Given the description of an element on the screen output the (x, y) to click on. 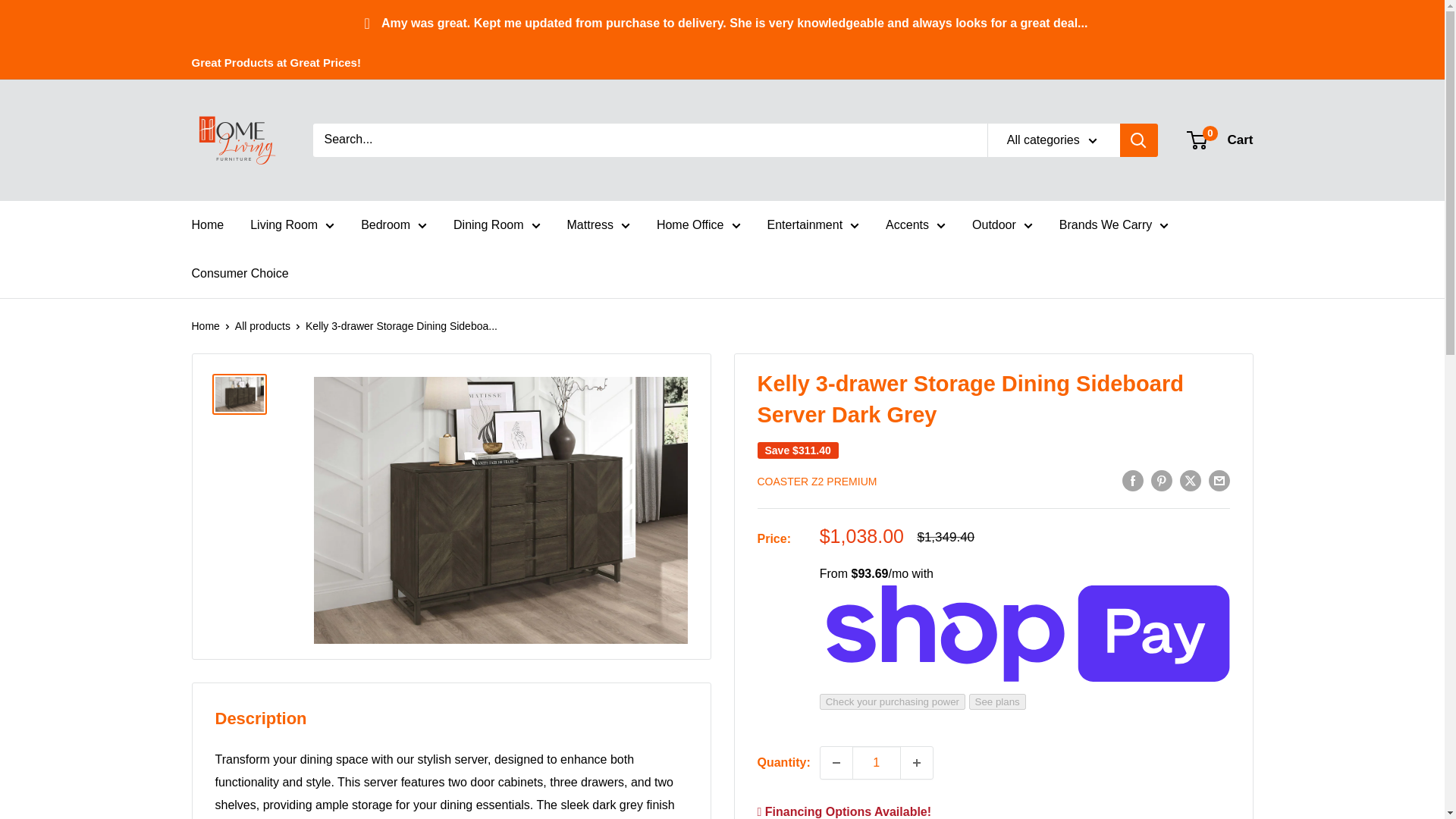
1 (876, 762)
Decrease quantity by 1 (836, 762)
Increase quantity by 1 (917, 762)
